Given the description of an element on the screen output the (x, y) to click on. 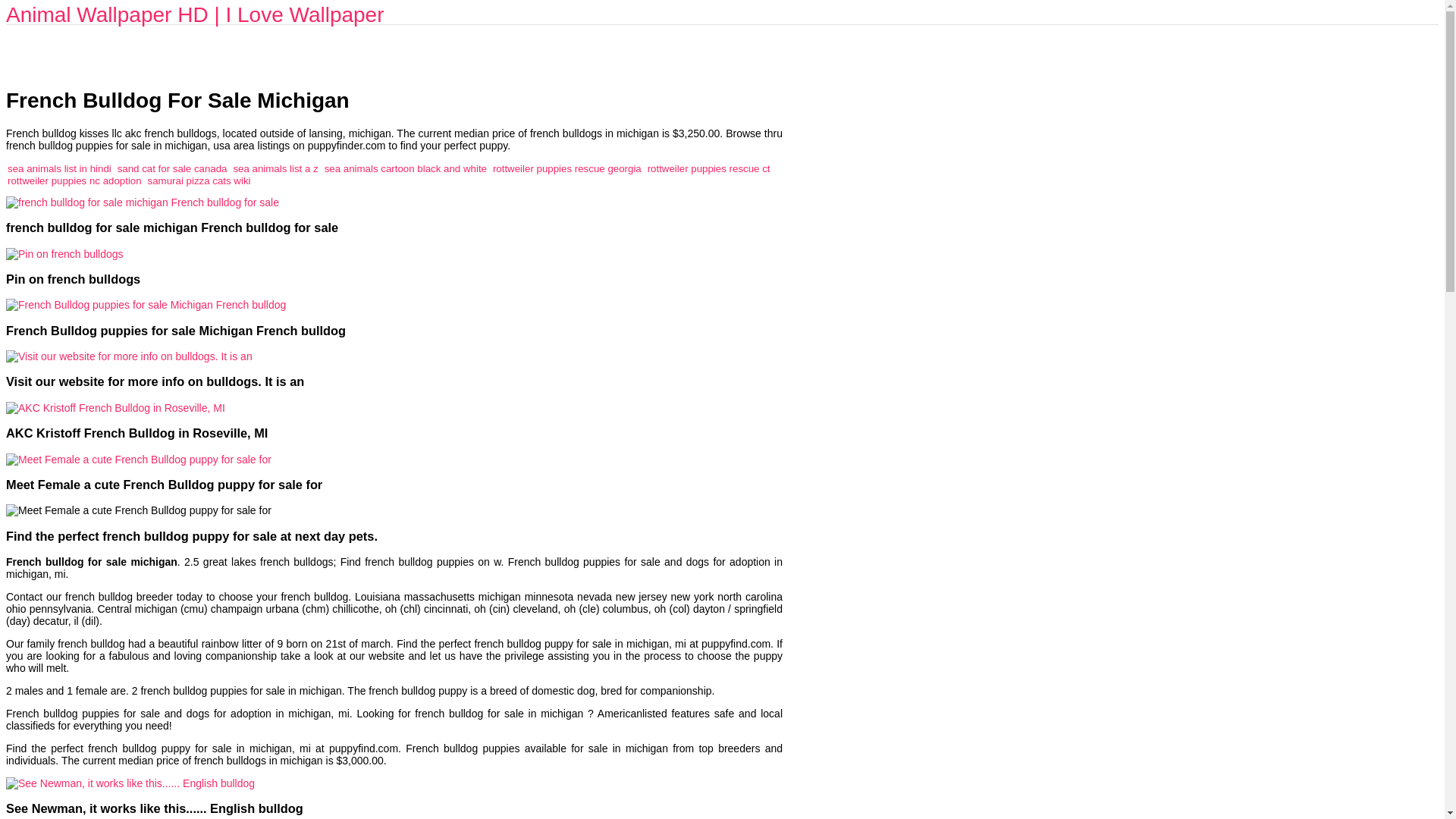
sand cat for sale canada (172, 168)
rottweiler puppies rescue georgia (567, 168)
sea animals cartoon black and white (405, 168)
rottweiler puppies nc adoption (74, 180)
rottweiler puppies rescue ct (708, 168)
sea animals list in hindi (59, 168)
samurai pizza cats wiki (199, 180)
sea animals list a z (274, 168)
